Given the description of an element on the screen output the (x, y) to click on. 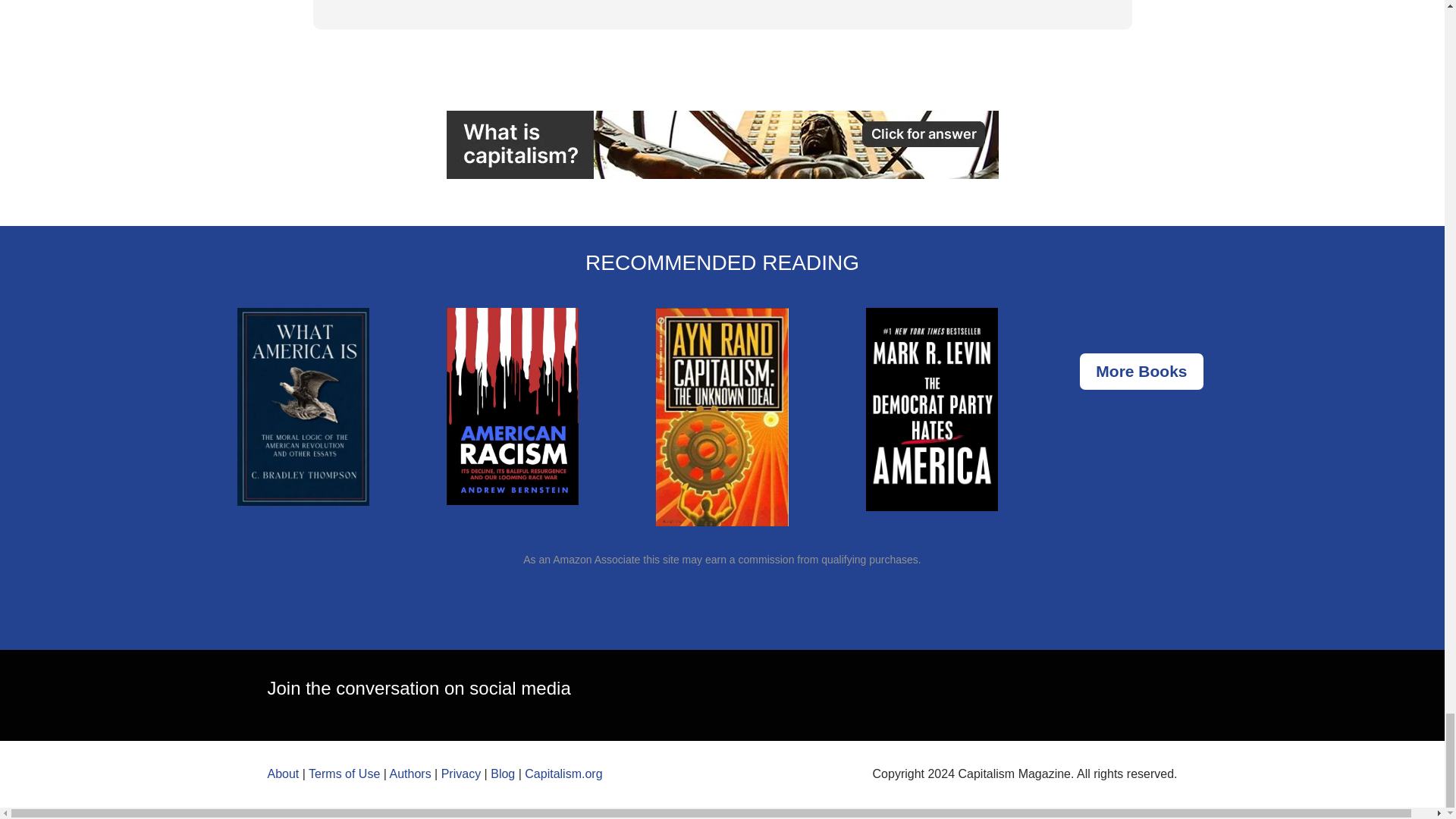
Capitalism Tour (721, 144)
